Given the description of an element on the screen output the (x, y) to click on. 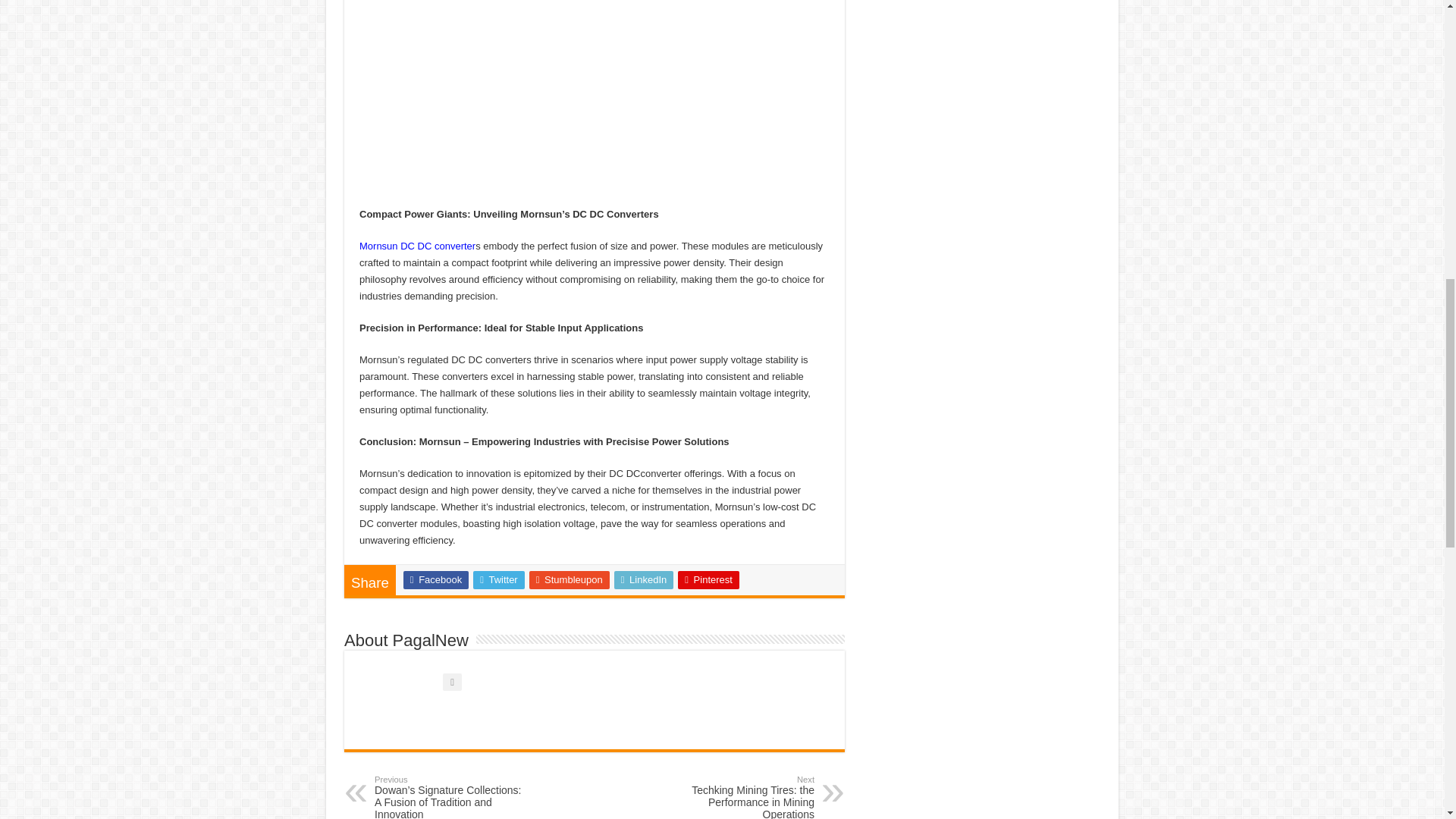
Pinterest (708, 579)
Facebook (435, 579)
Stumbleupon (569, 579)
Scroll To Top (1421, 60)
Twitter (498, 579)
LinkedIn (644, 579)
Mornsun DC DC converter (417, 245)
